Given the description of an element on the screen output the (x, y) to click on. 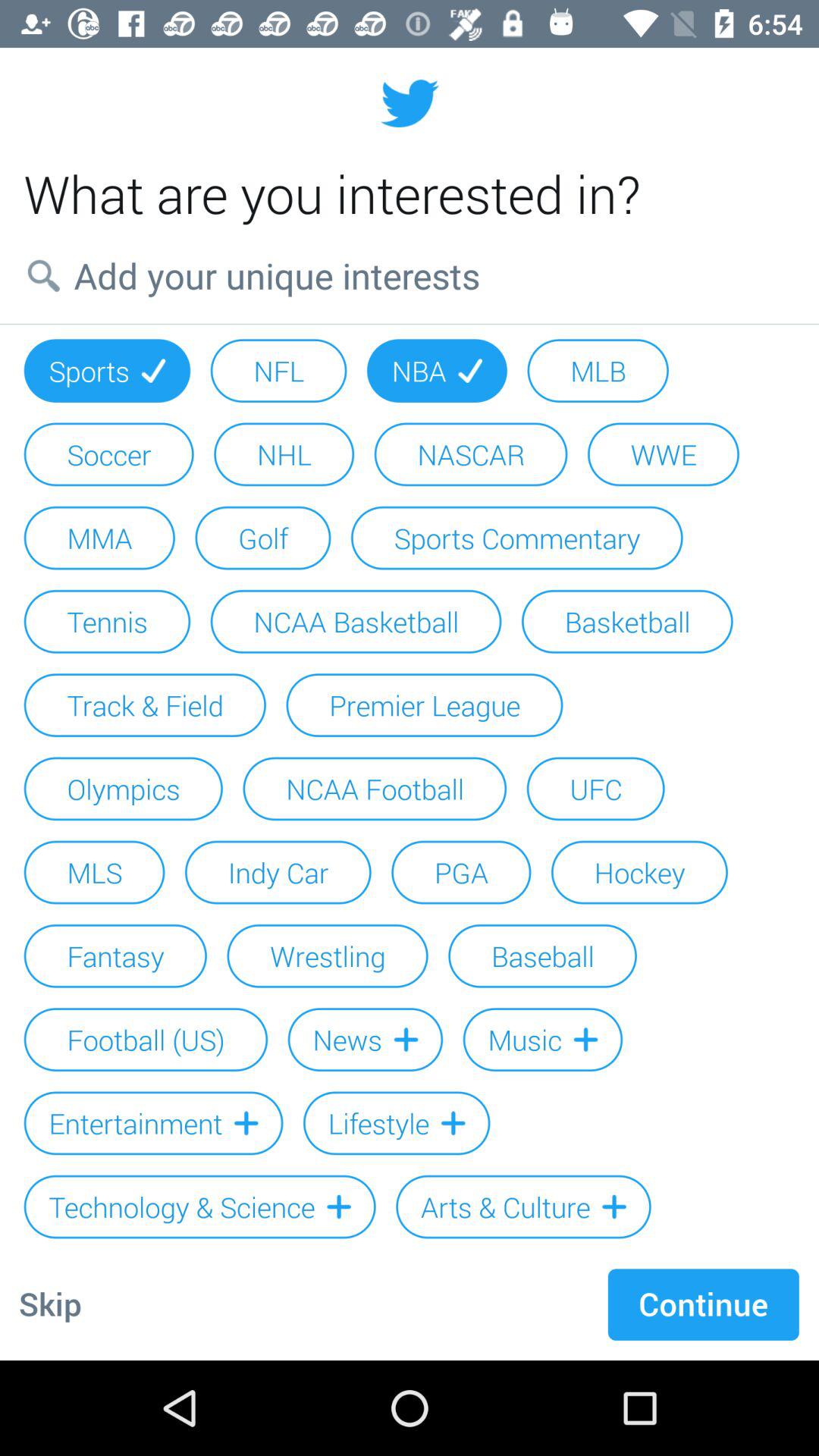
turn on item next to the entertainment (396, 1123)
